Given the description of an element on the screen output the (x, y) to click on. 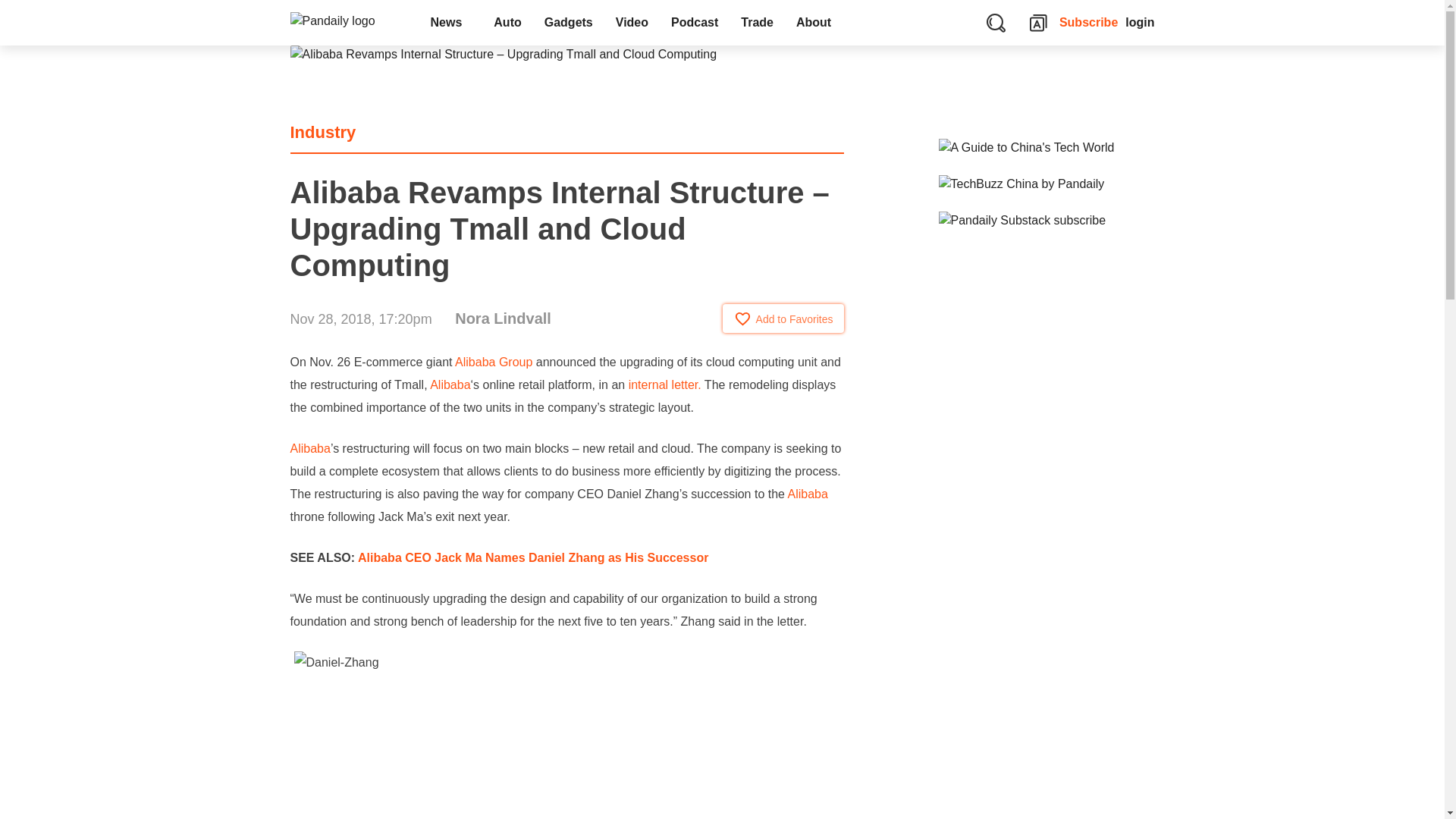
login (1139, 22)
Gadgets (568, 22)
About (817, 22)
internal letter. (662, 384)
Alibaba (309, 448)
Alibaba (807, 493)
News (450, 22)
Subscribe (1088, 22)
Alibaba (449, 384)
Podcast (694, 22)
Trade (756, 22)
Nora Lindvall (502, 318)
Add to Favorites (783, 317)
Industry (322, 131)
Alibaba Group (493, 361)
